Given the description of an element on the screen output the (x, y) to click on. 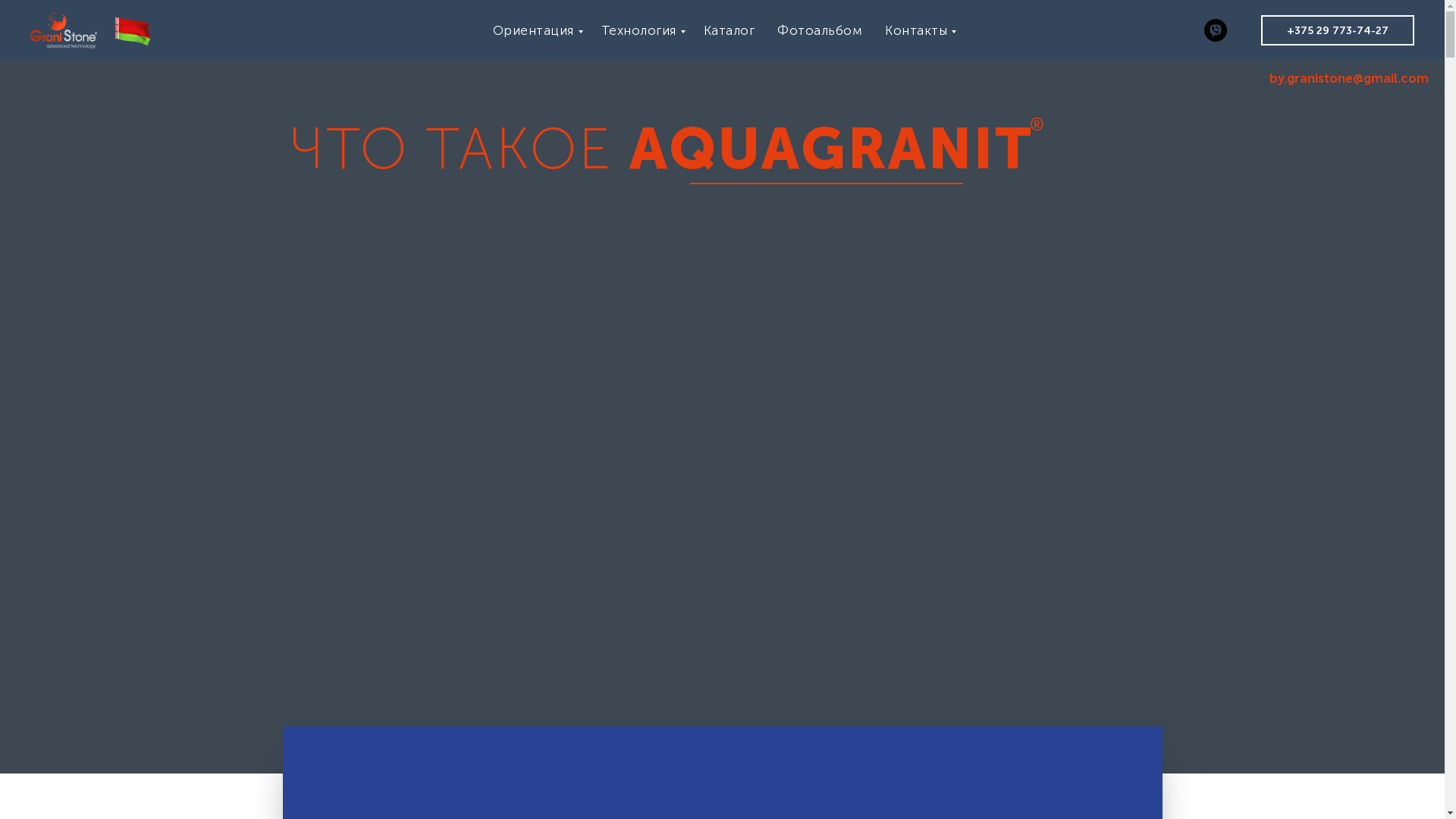
+375 29 773-74-27 Element type: text (1337, 30)
by.granistone@gmail.com Element type: text (1348, 77)
